Given the description of an element on the screen output the (x, y) to click on. 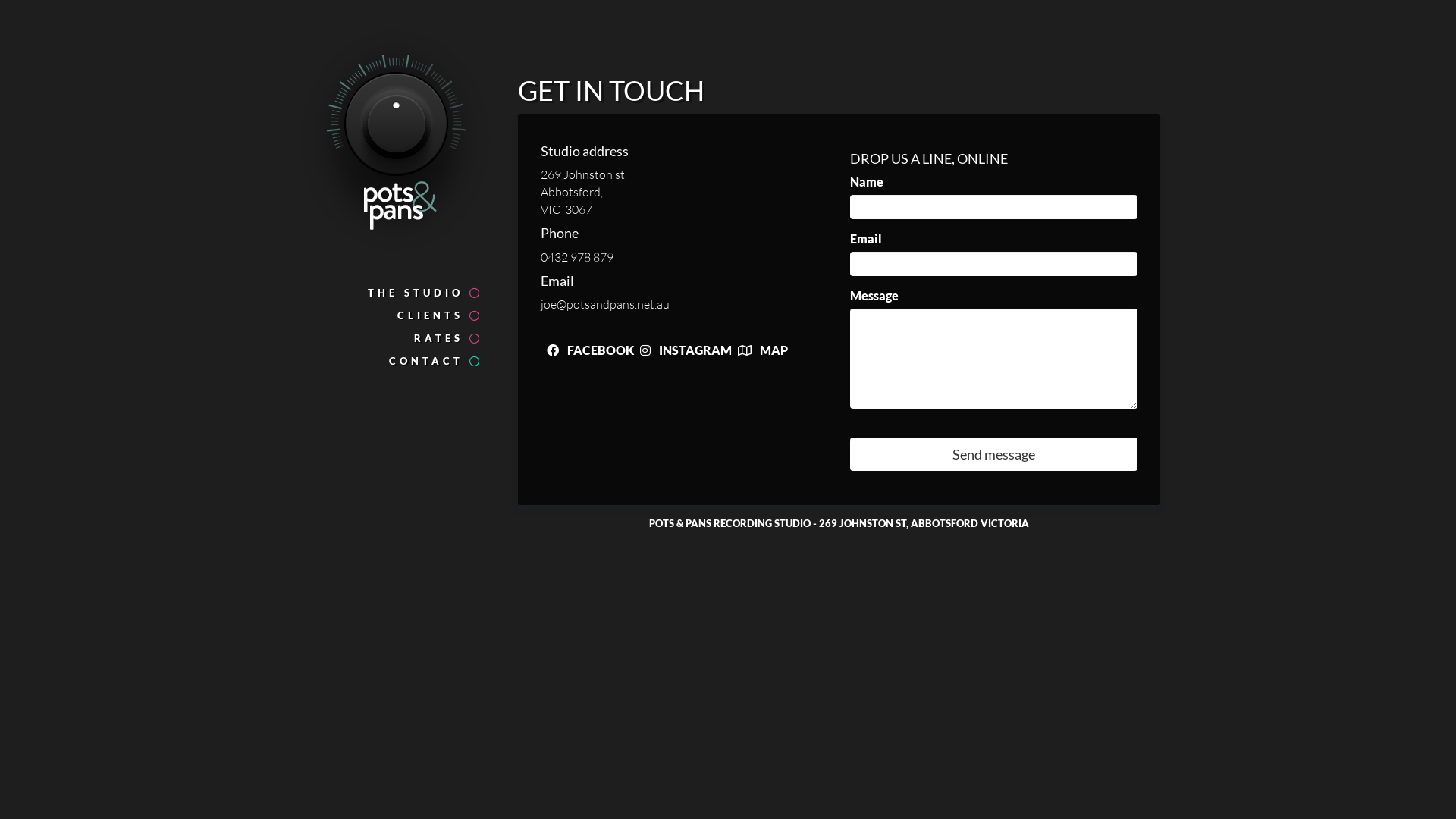
FACEBOOK Element type: text (586, 349)
THE STUDIO Element type: text (395, 292)
MAP Element type: text (759, 349)
INSTAGRAM Element type: text (682, 349)
CONTACT Element type: text (395, 360)
Send message Element type: text (993, 453)
CLIENTS Element type: text (395, 315)
RATES Element type: text (395, 337)
